Given the description of an element on the screen output the (x, y) to click on. 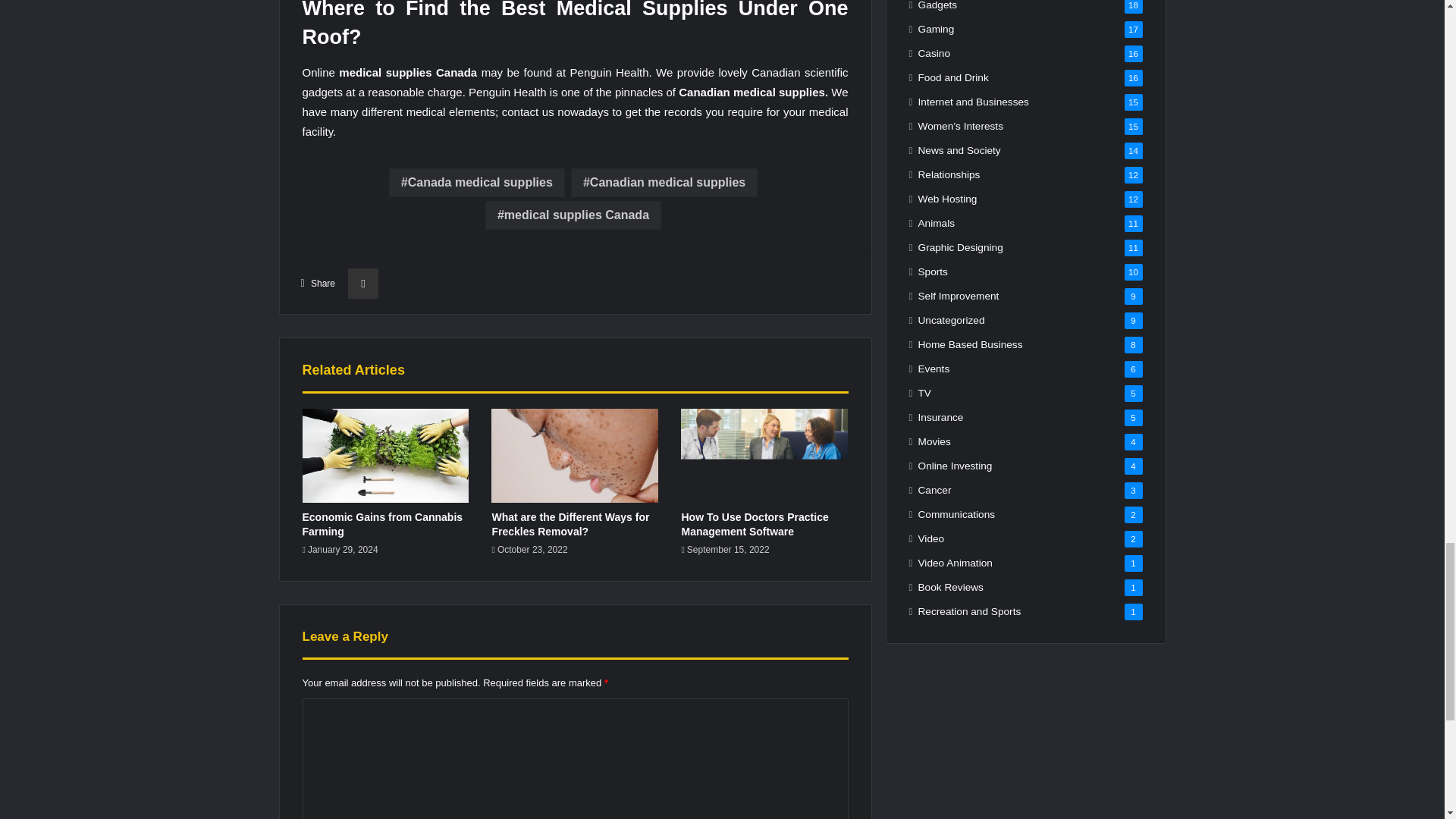
Canadian medical supplies (663, 182)
How To Use Doctors Practice Management Software (754, 524)
medical supplies Canada (572, 215)
Share via Email (362, 283)
Share via Email (362, 283)
Canada medical supplies (476, 182)
What are the Different Ways for Freckles Removal? (570, 524)
Economic Gains from Cannabis Farming (382, 524)
